Given the description of an element on the screen output the (x, y) to click on. 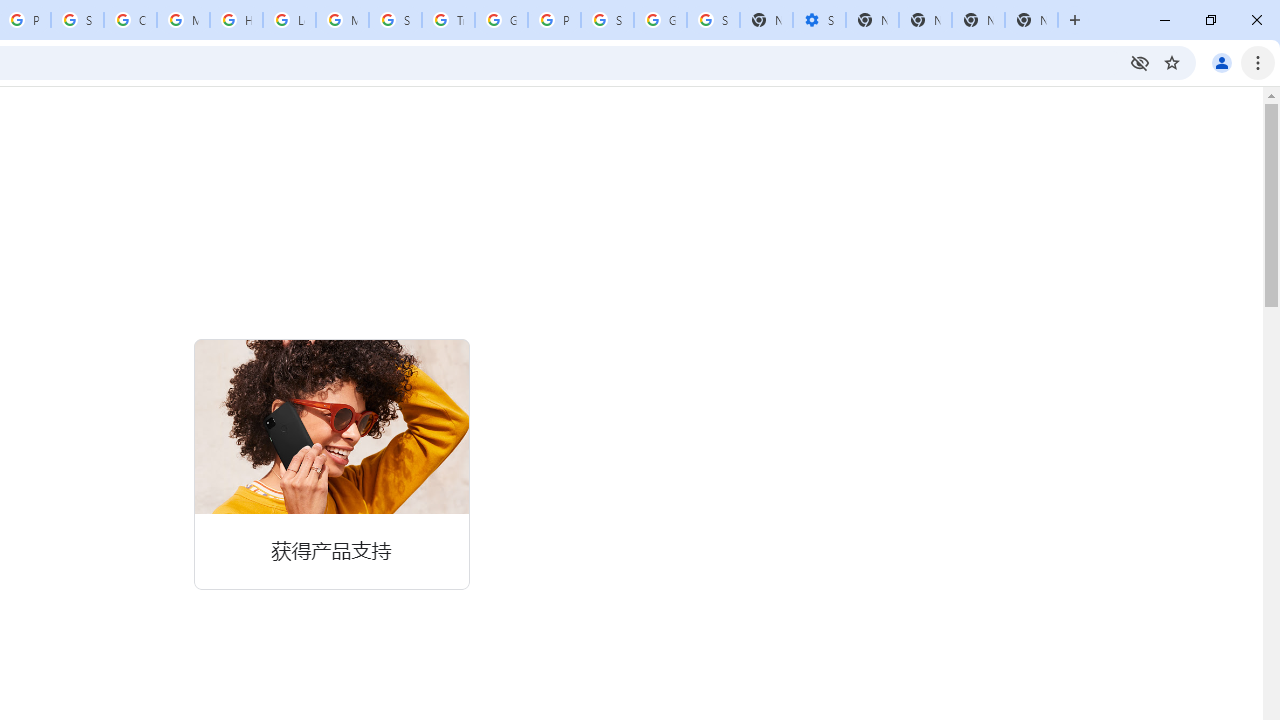
Trusted Information and Content - Google Safety Center (448, 20)
Google Cybersecurity Innovations - Google Safety Center (660, 20)
Sign in - Google Accounts (713, 20)
Settings - Performance (819, 20)
Sign in - Google Accounts (607, 20)
New Tab (1031, 20)
